Given the description of an element on the screen output the (x, y) to click on. 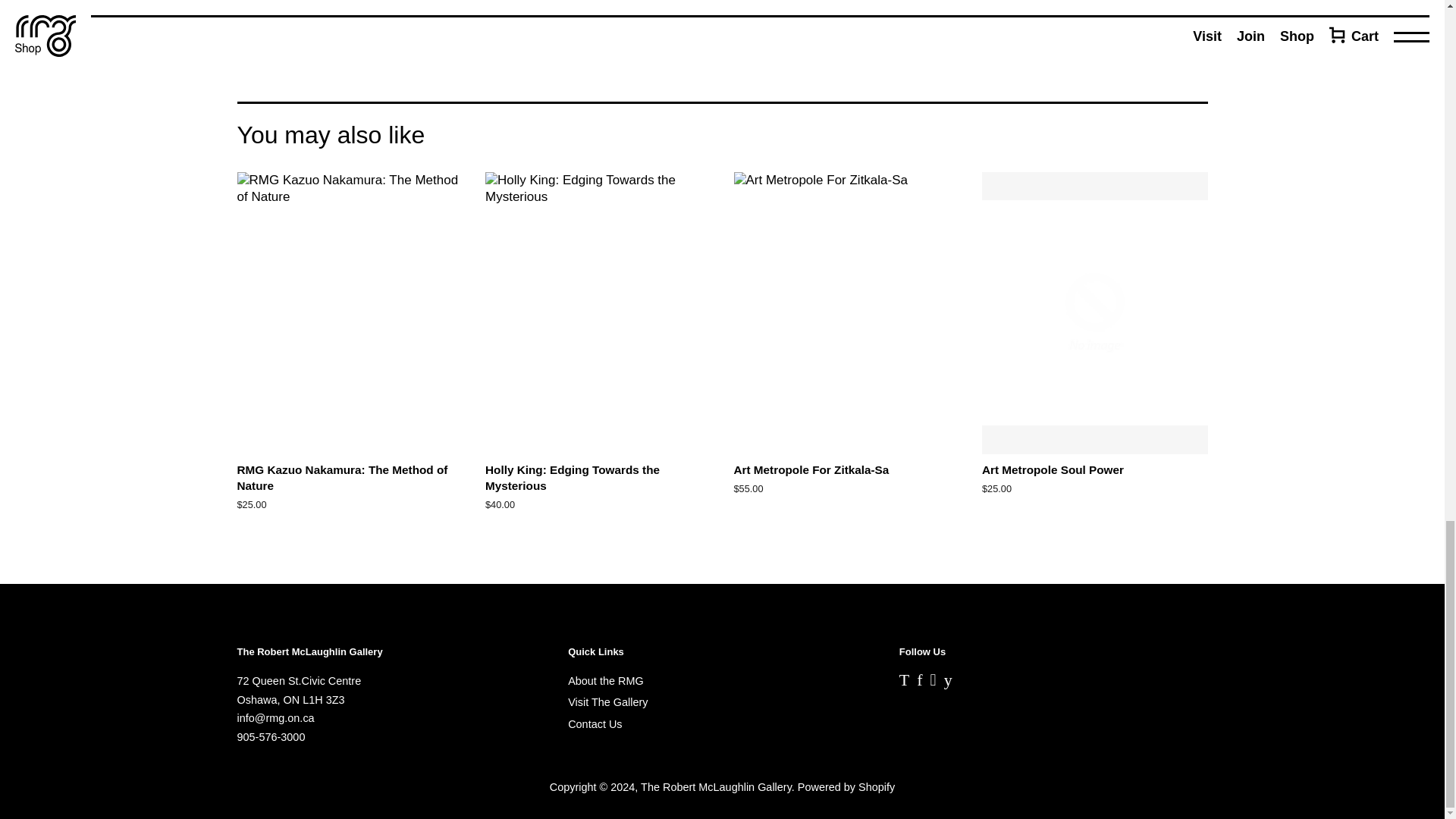
About the RMG (605, 680)
The Robert McLaughlin Gallery (716, 787)
Visit The Gallery (607, 702)
front.bc.ca (1127, 42)
Contact Us (594, 724)
Powered by Shopify (846, 787)
